Given the description of an element on the screen output the (x, y) to click on. 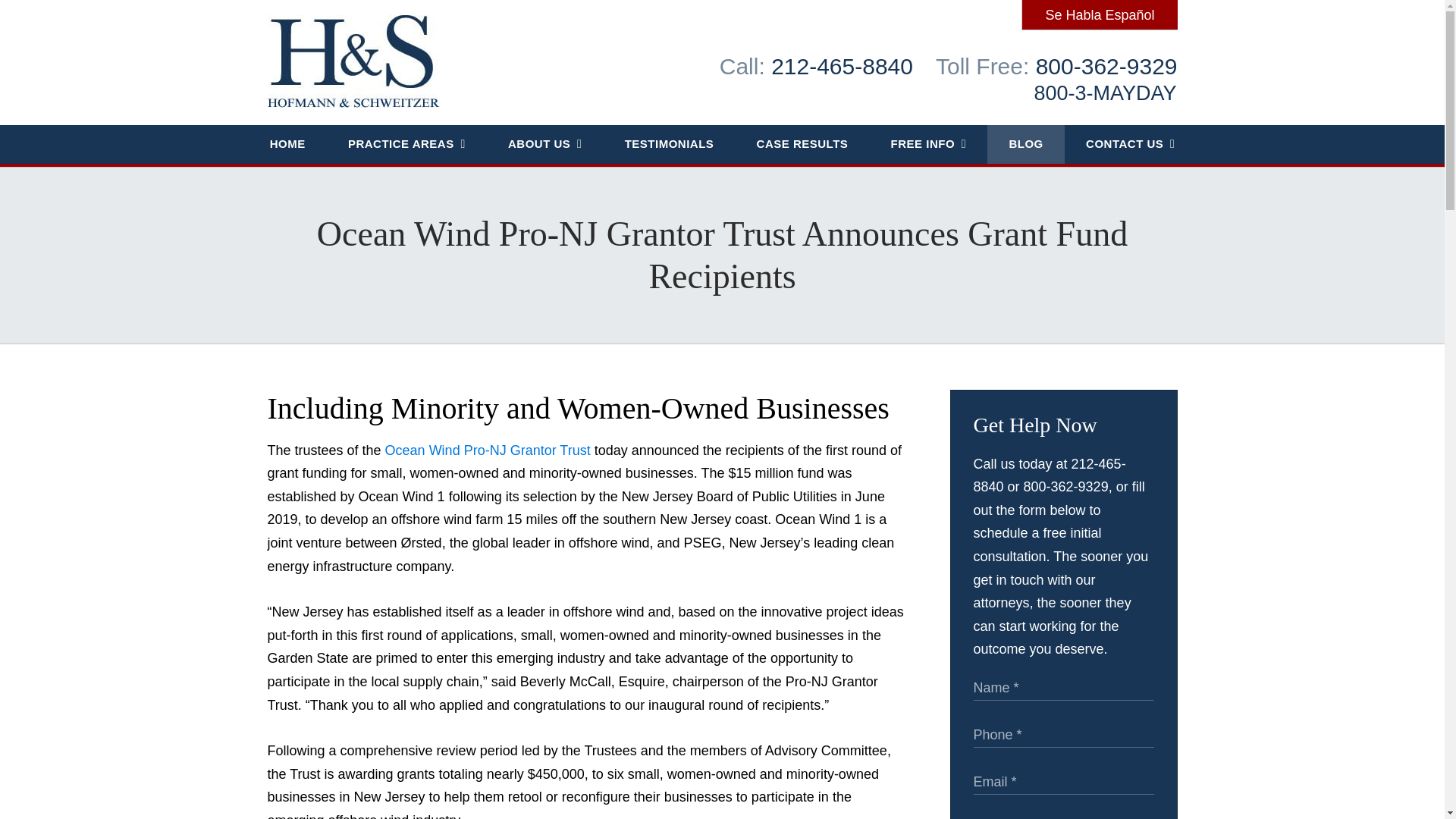
CASE RESULTS (802, 144)
Ocean Wind Pro-NJ Grantor Trust (488, 450)
TESTIMONIALS (669, 144)
BLOG (1025, 144)
ABOUT US (545, 144)
FREE INFO (928, 144)
PRACTICE AREAS (406, 144)
HOME (287, 144)
CONTACT US (1130, 144)
